Given the description of an element on the screen output the (x, y) to click on. 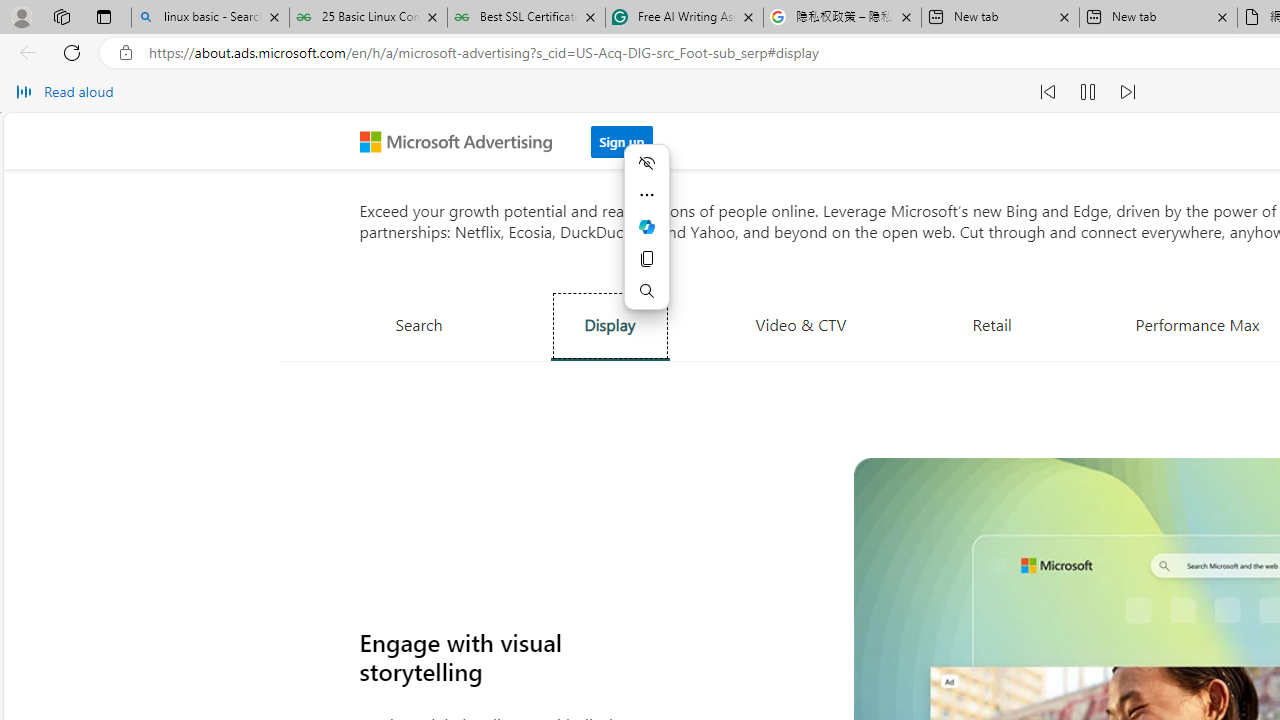
Free AI Writing Assistance for Students | Grammarly (683, 17)
Pause read aloud (Ctrl+Shift+U) (1087, 92)
Display (609, 325)
Video & CTV (801, 324)
Retail (991, 324)
Best SSL Certificates Provider in India - GeeksforGeeks (526, 17)
Read previous paragraph (1047, 92)
Mini menu on text selection (646, 238)
Sign up (621, 136)
Hide menu (646, 162)
